Given the description of an element on the screen output the (x, y) to click on. 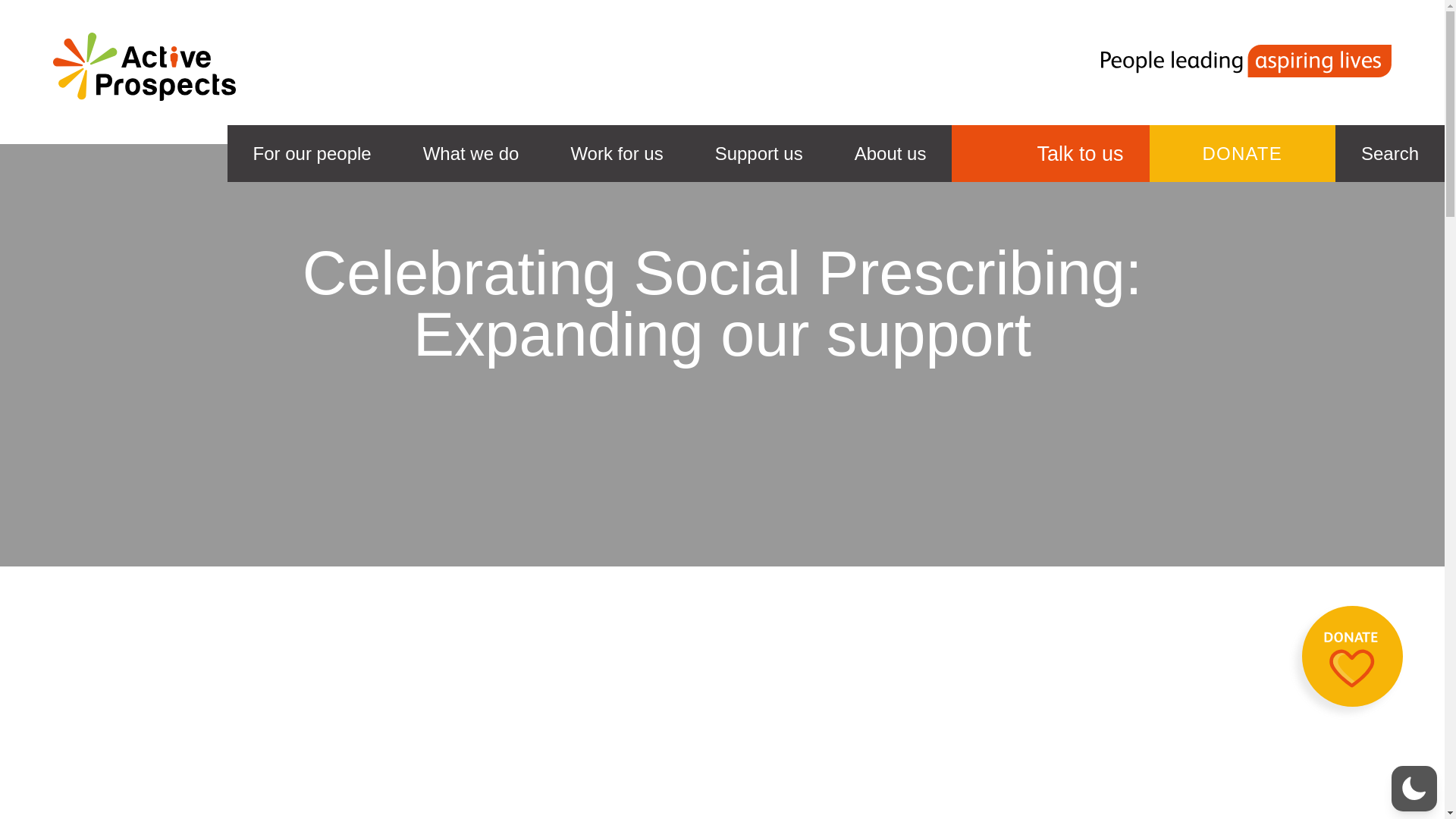
DONATE (1242, 153)
What we do (470, 153)
Talk to us (1050, 153)
Support us (758, 153)
About us (890, 153)
Work for us (616, 153)
For our people (312, 153)
